Given the description of an element on the screen output the (x, y) to click on. 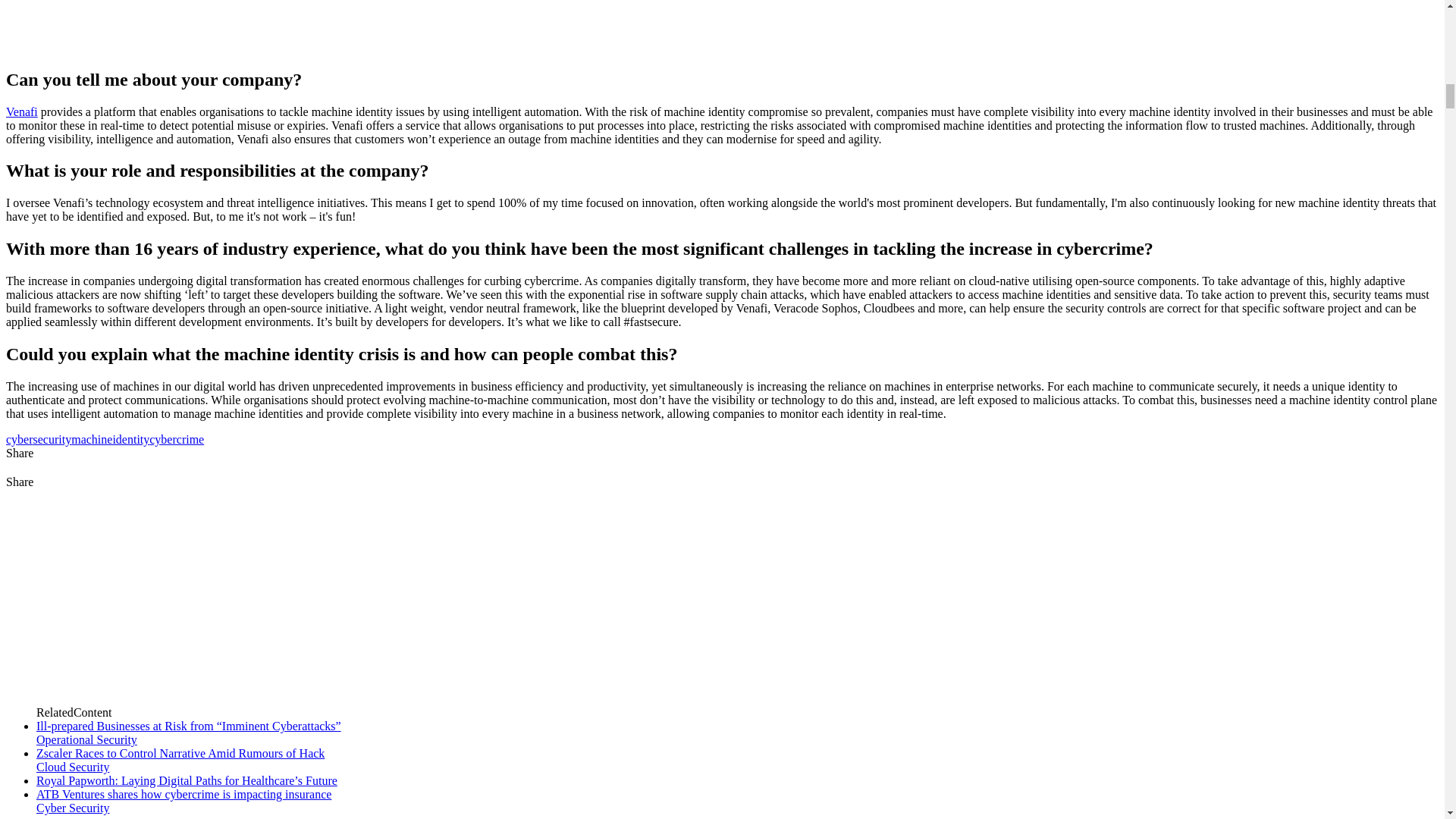
machineidentity (110, 439)
cybercrime (176, 439)
Venafi (21, 111)
security (52, 439)
cyber (19, 439)
